Given the description of an element on the screen output the (x, y) to click on. 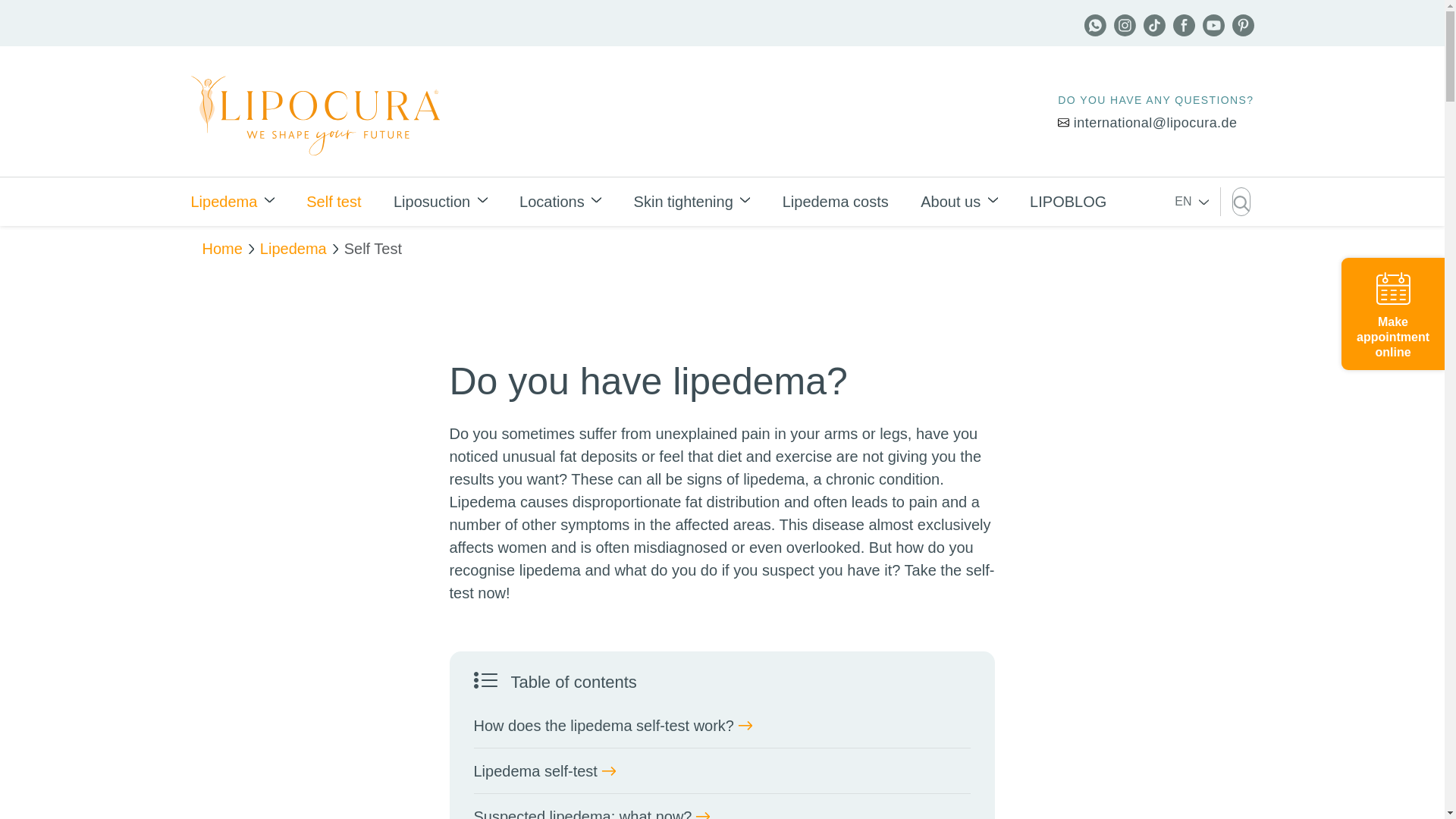
Locations (560, 201)
Self test (333, 201)
Liposuction (440, 201)
Lipedema (232, 201)
